Given the description of an element on the screen output the (x, y) to click on. 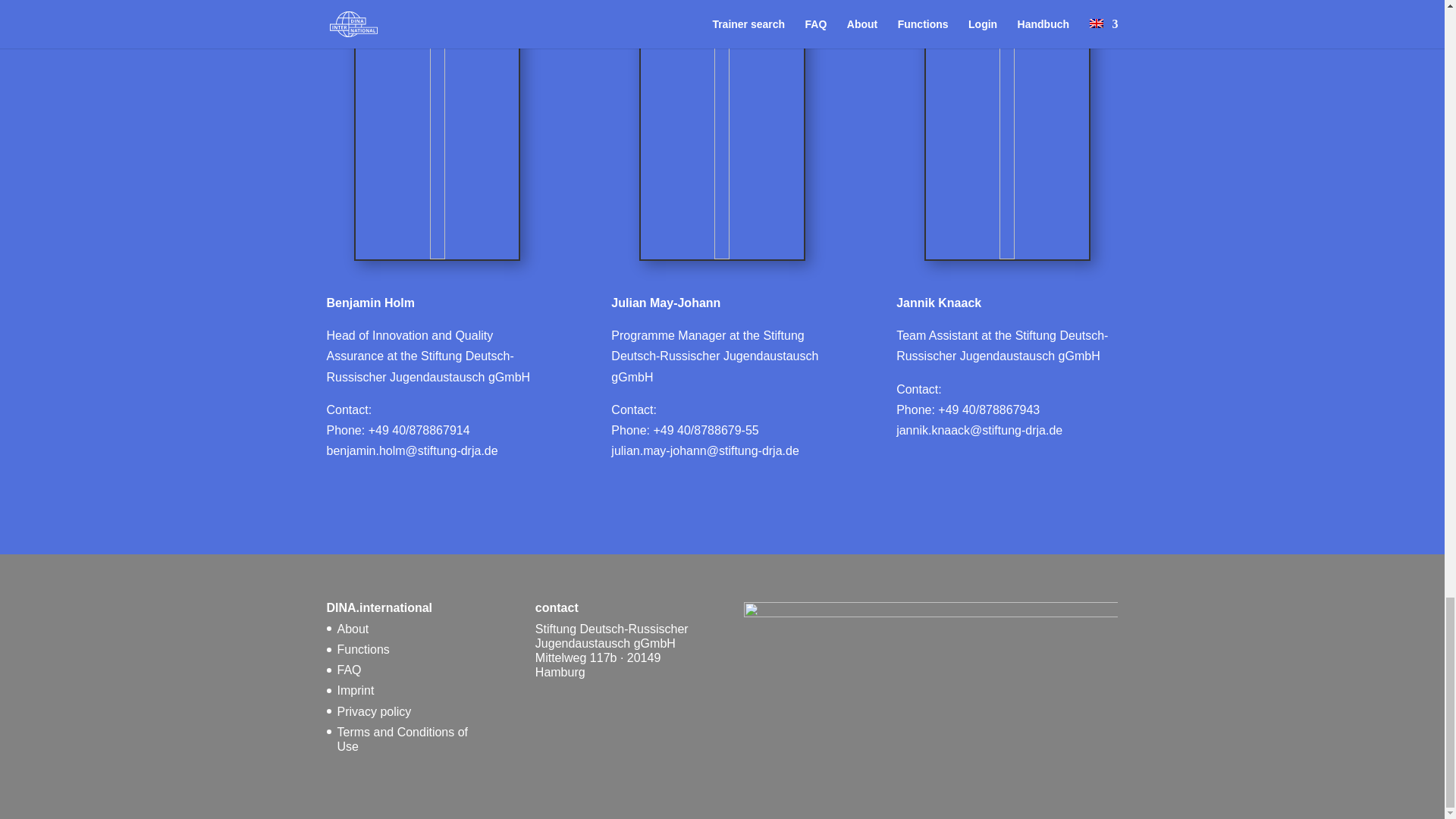
About (352, 628)
Functions (362, 649)
Privacy policy (373, 711)
FAQ (348, 669)
Imprint (355, 689)
Terms and Conditions of Use (401, 738)
